Given the description of an element on the screen output the (x, y) to click on. 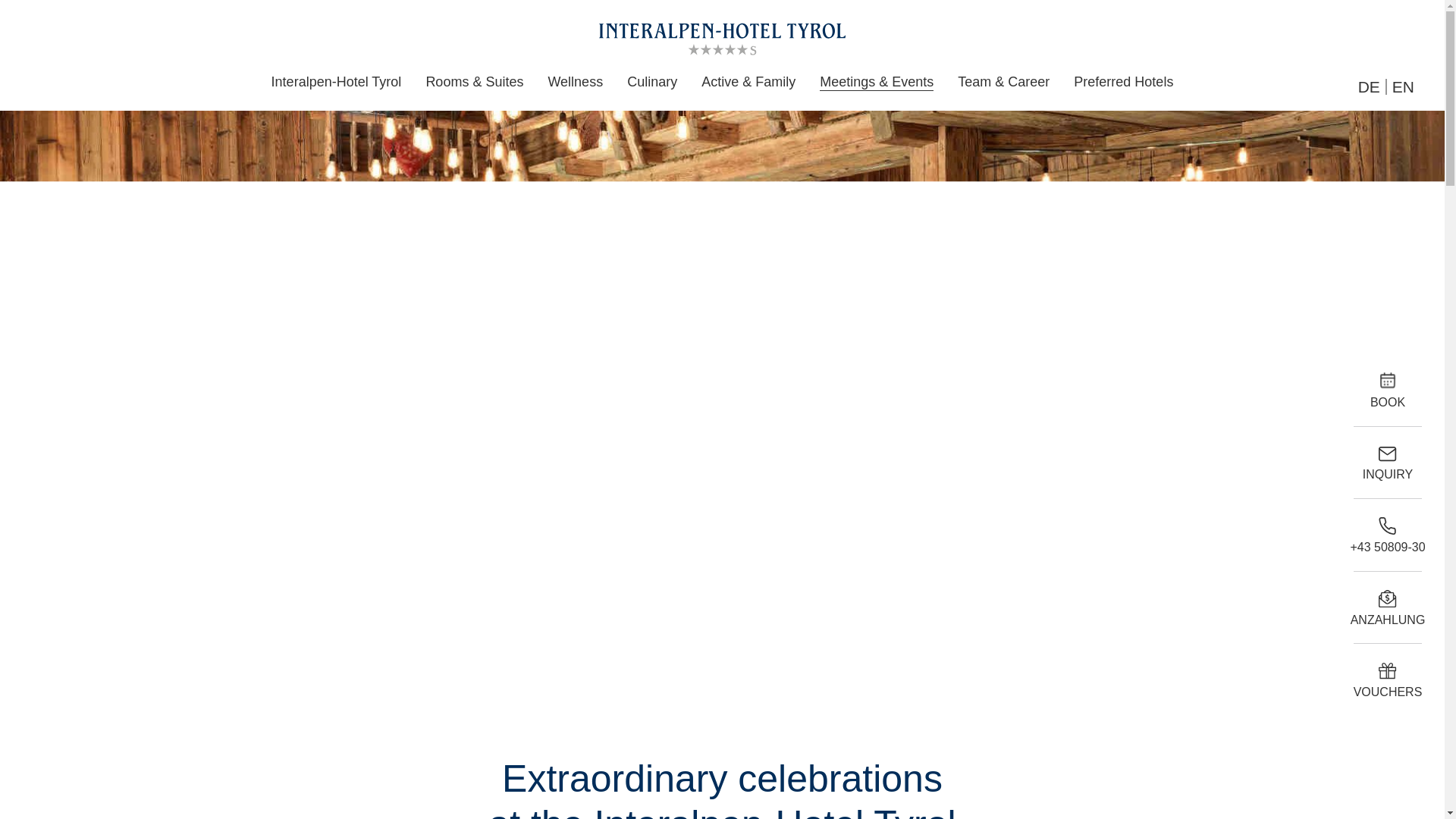
Culinary (651, 82)
Culinary (651, 82)
Wellness (574, 82)
Interalpen-Hotel Tyrol (336, 82)
Preferred Hotels (1123, 82)
Interalpen-Hotel Tyrol (336, 82)
Wellness (574, 82)
Preferred Hotels (1123, 82)
